Given the description of an element on the screen output the (x, y) to click on. 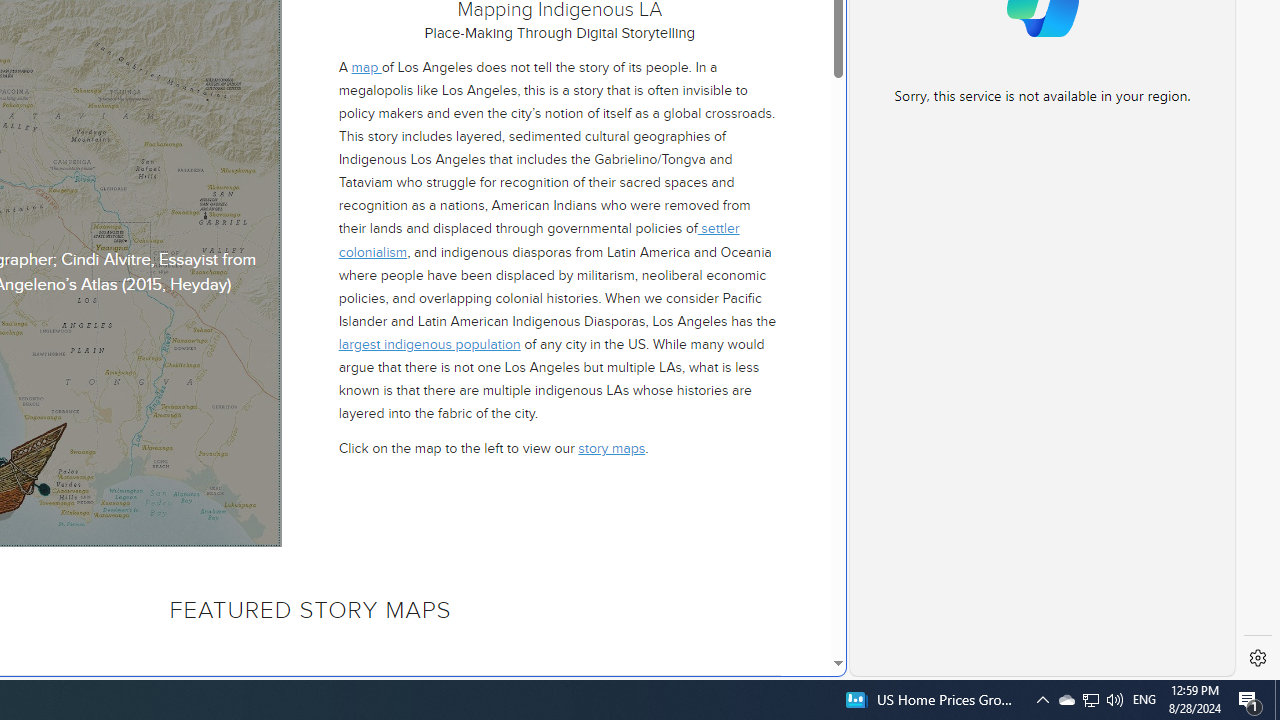
map  (365, 66)
 settler colonialism (538, 240)
Settings (1258, 658)
largest indigenous population (428, 344)
story maps (612, 448)
